Given the description of an element on the screen output the (x, y) to click on. 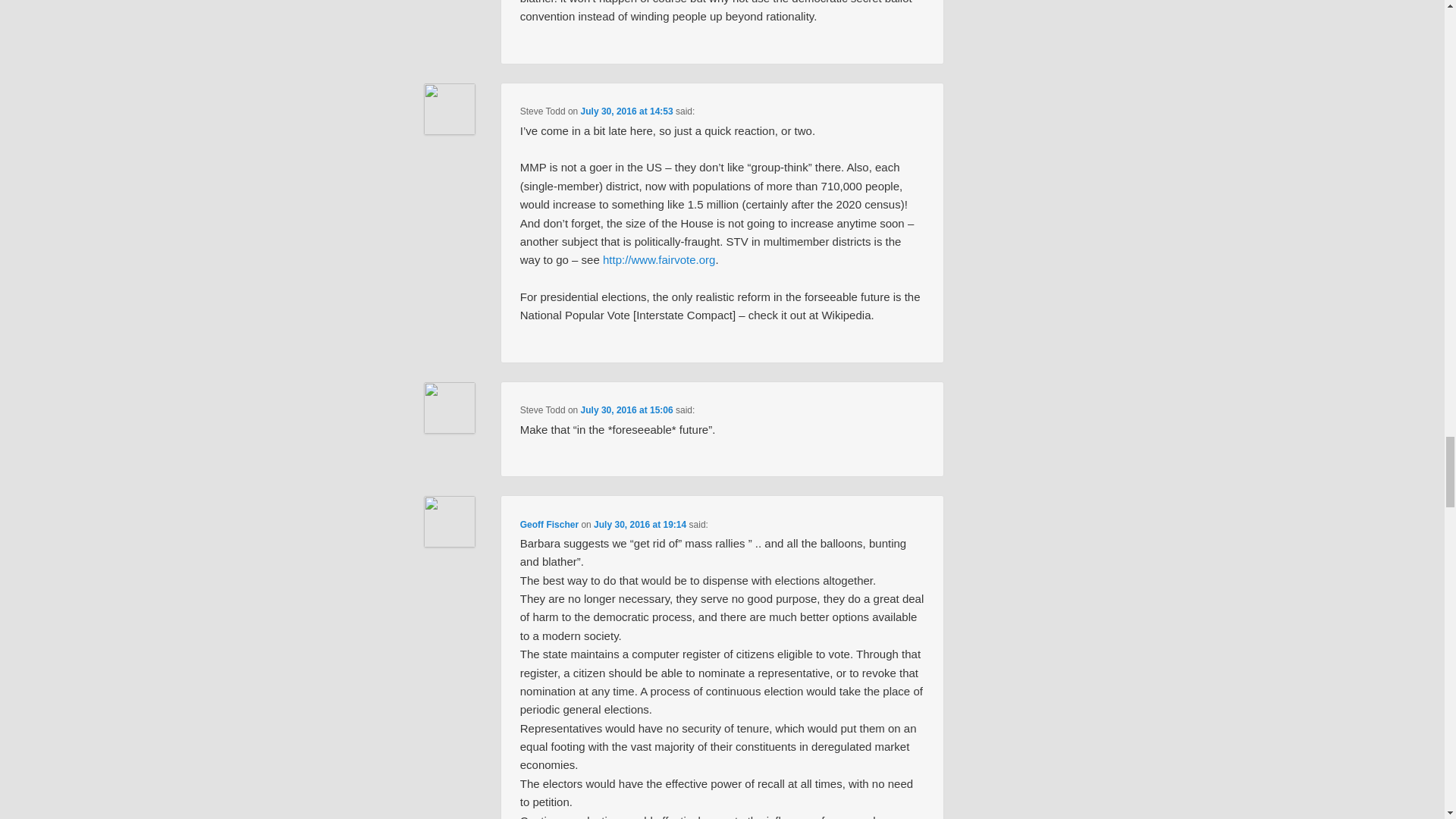
July 30, 2016 at 19:14 (639, 524)
July 30, 2016 at 14:53 (626, 111)
Geoff Fischer (548, 524)
July 30, 2016 at 15:06 (626, 409)
